Given the description of an element on the screen output the (x, y) to click on. 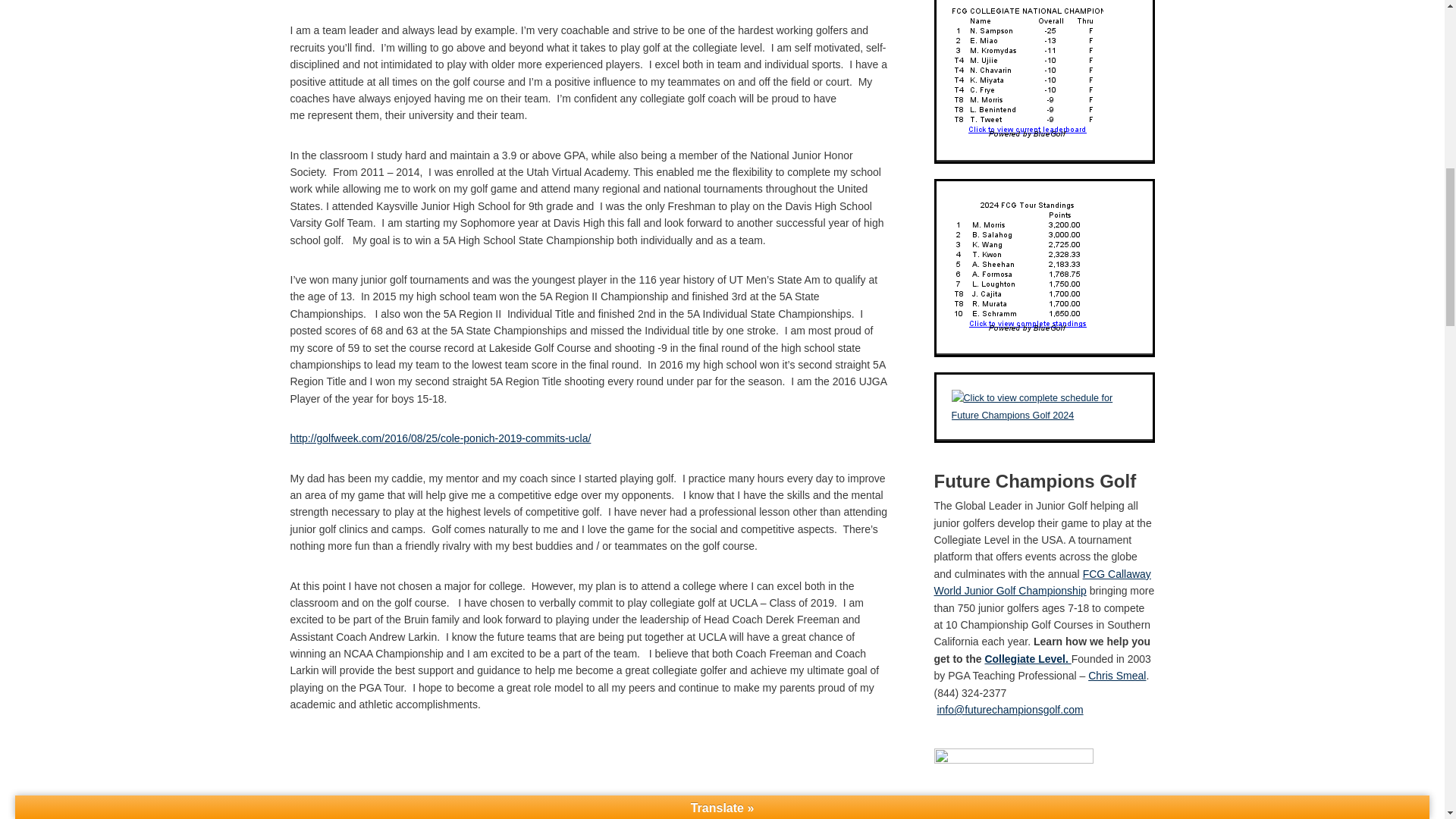
IMG 2550 (588, 777)
